Given the description of an element on the screen output the (x, y) to click on. 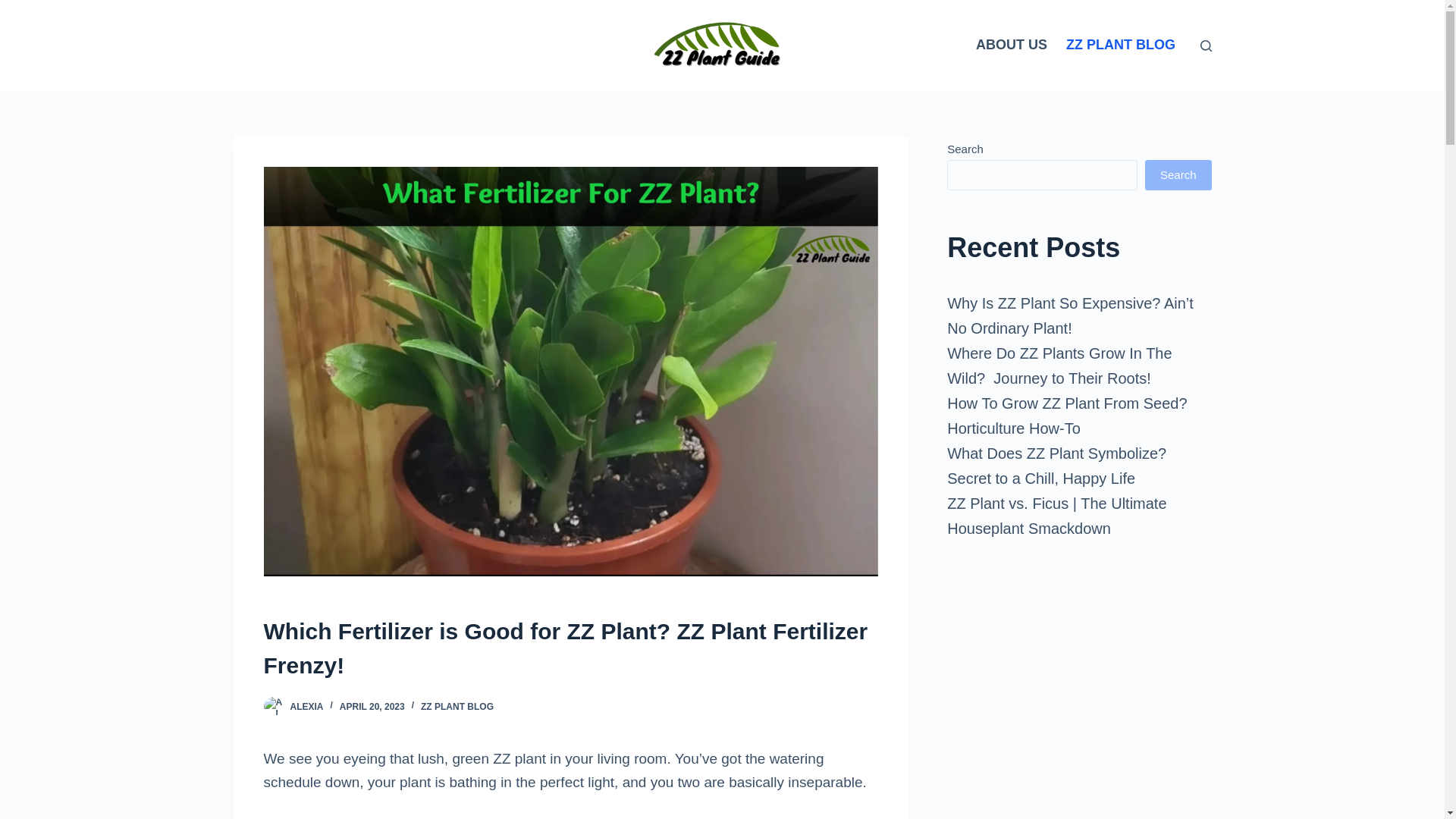
Search (1177, 174)
Posts by Alexia (306, 706)
ZZ PLANT BLOG (456, 706)
What Does ZZ Plant Symbolize? Secret to a Chill, Happy Life (1056, 465)
Skip to content (15, 7)
ABOUT US (1011, 45)
How To Grow ZZ Plant From Seed? Horticulture How-To (1066, 415)
ZZ PLANT BLOG (1121, 45)
ALEXIA (306, 706)
